Given the description of an element on the screen output the (x, y) to click on. 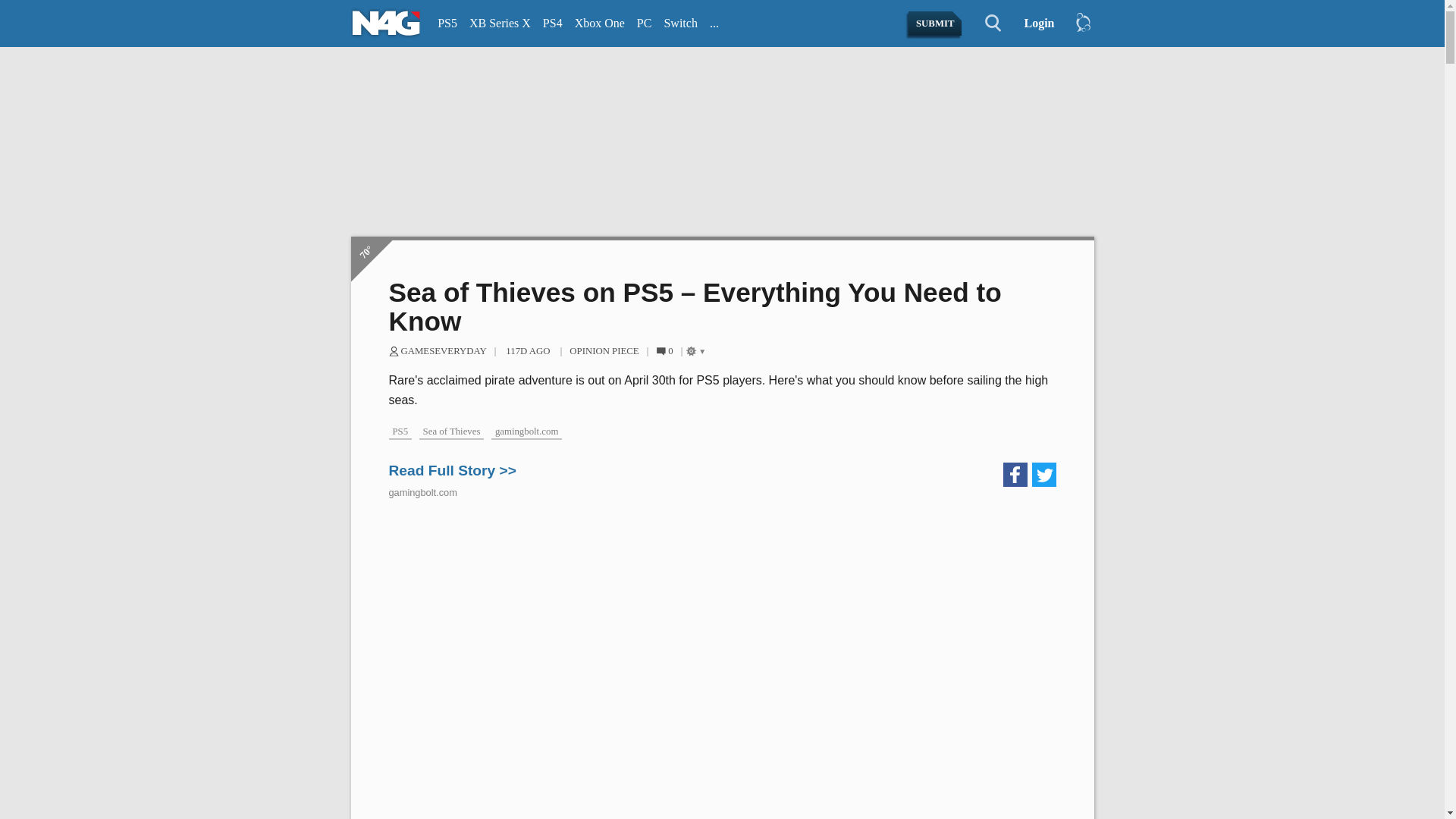
XB Series X (500, 24)
PC (644, 24)
PS5 (446, 24)
SUBMIT (935, 23)
Search (984, 23)
Xbox One (599, 24)
PS4 (553, 24)
Switch (680, 24)
Login (1033, 23)
